Given the description of an element on the screen output the (x, y) to click on. 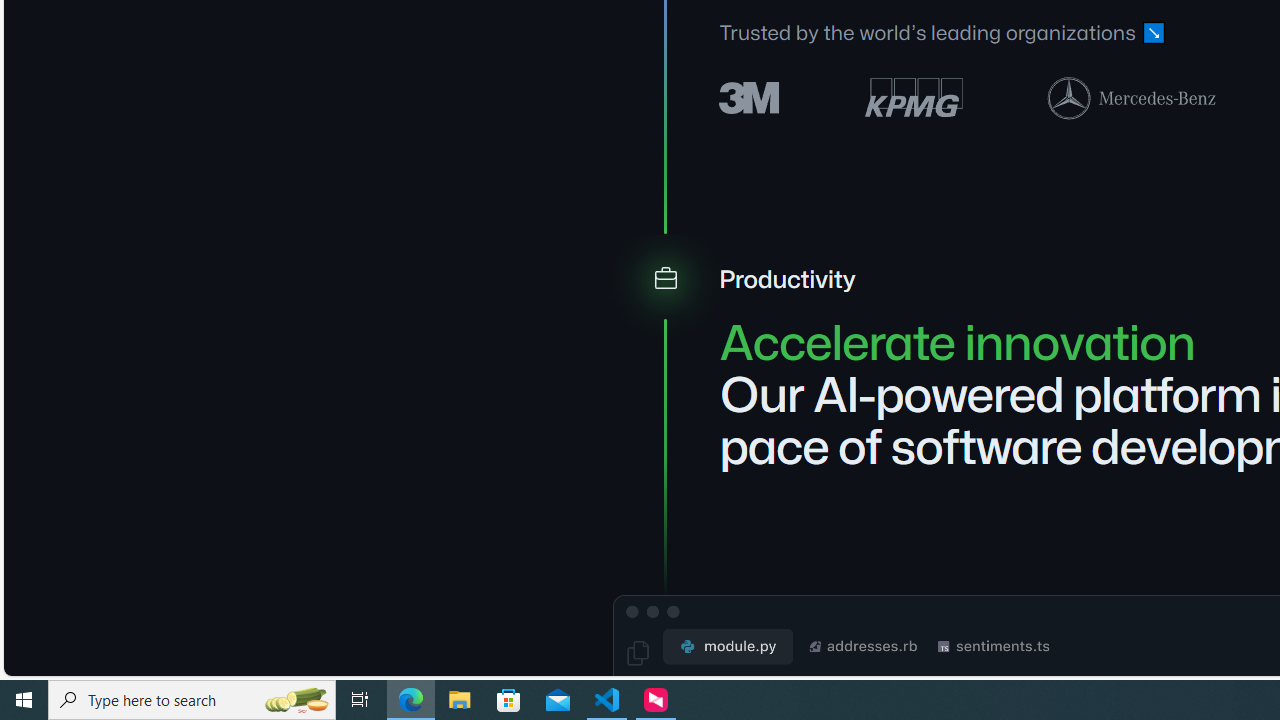
3M logo (749, 96)
KPMG logo (913, 97)
Mercedes-Benz logo (1132, 97)
